Given the description of an element on the screen output the (x, y) to click on. 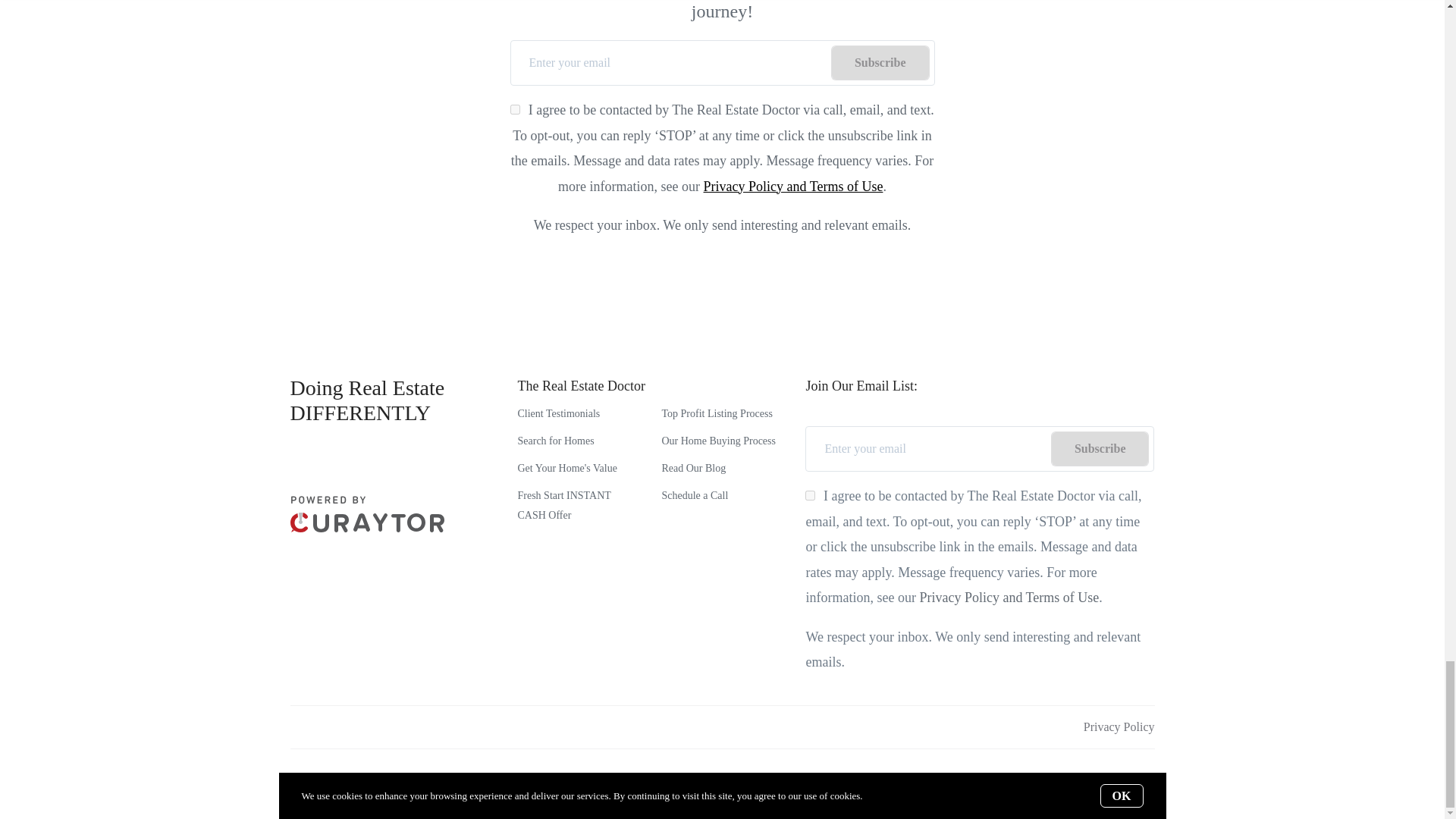
curaytor-horizontal (366, 514)
on (810, 495)
on (515, 109)
